Given the description of an element on the screen output the (x, y) to click on. 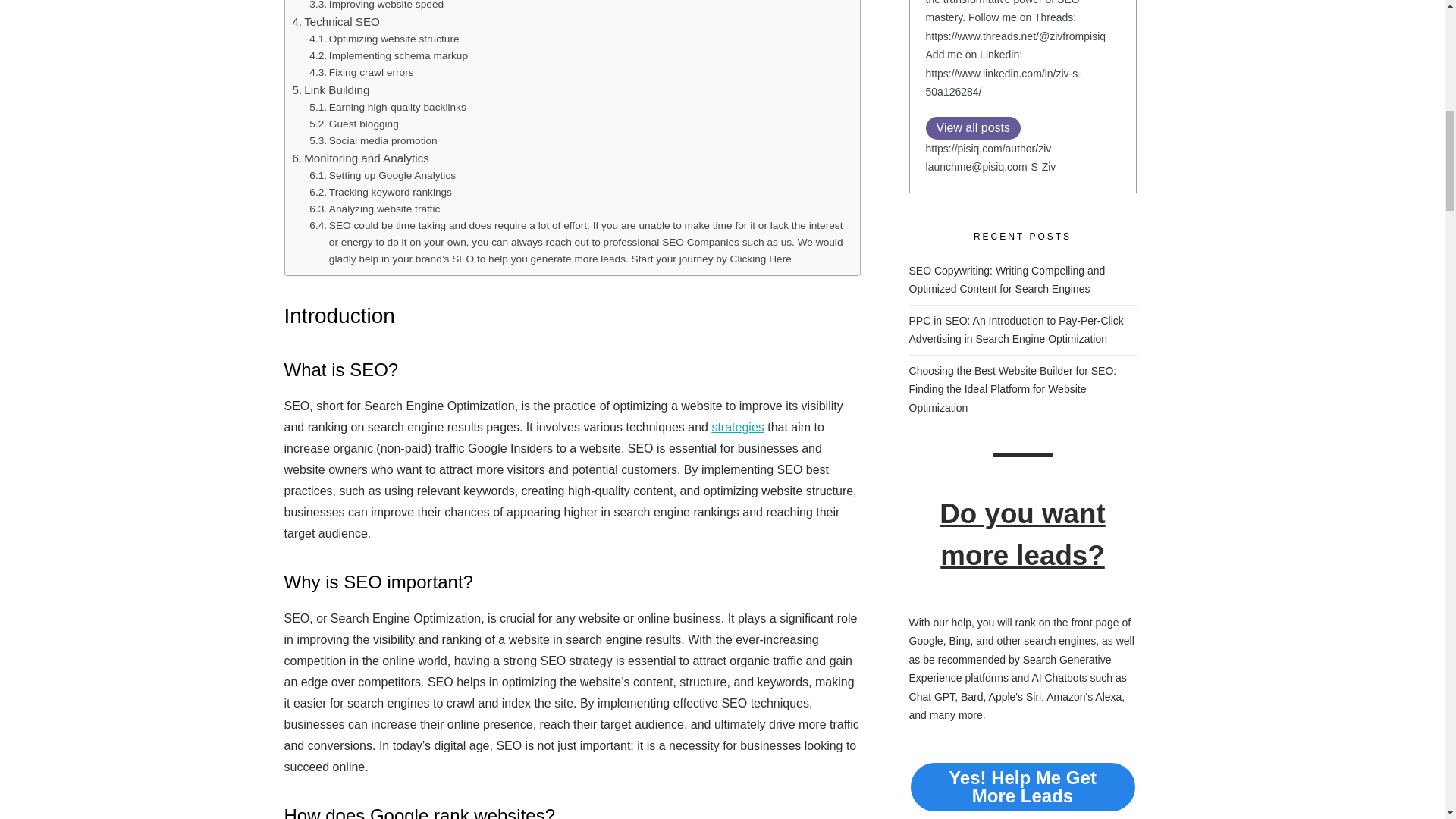
Technical SEO (336, 22)
Link Building (330, 90)
Improving website speed (376, 6)
Implementing schema markup (387, 55)
Optimizing website structure (383, 39)
Fixing crawl errors (360, 72)
